Given the description of an element on the screen output the (x, y) to click on. 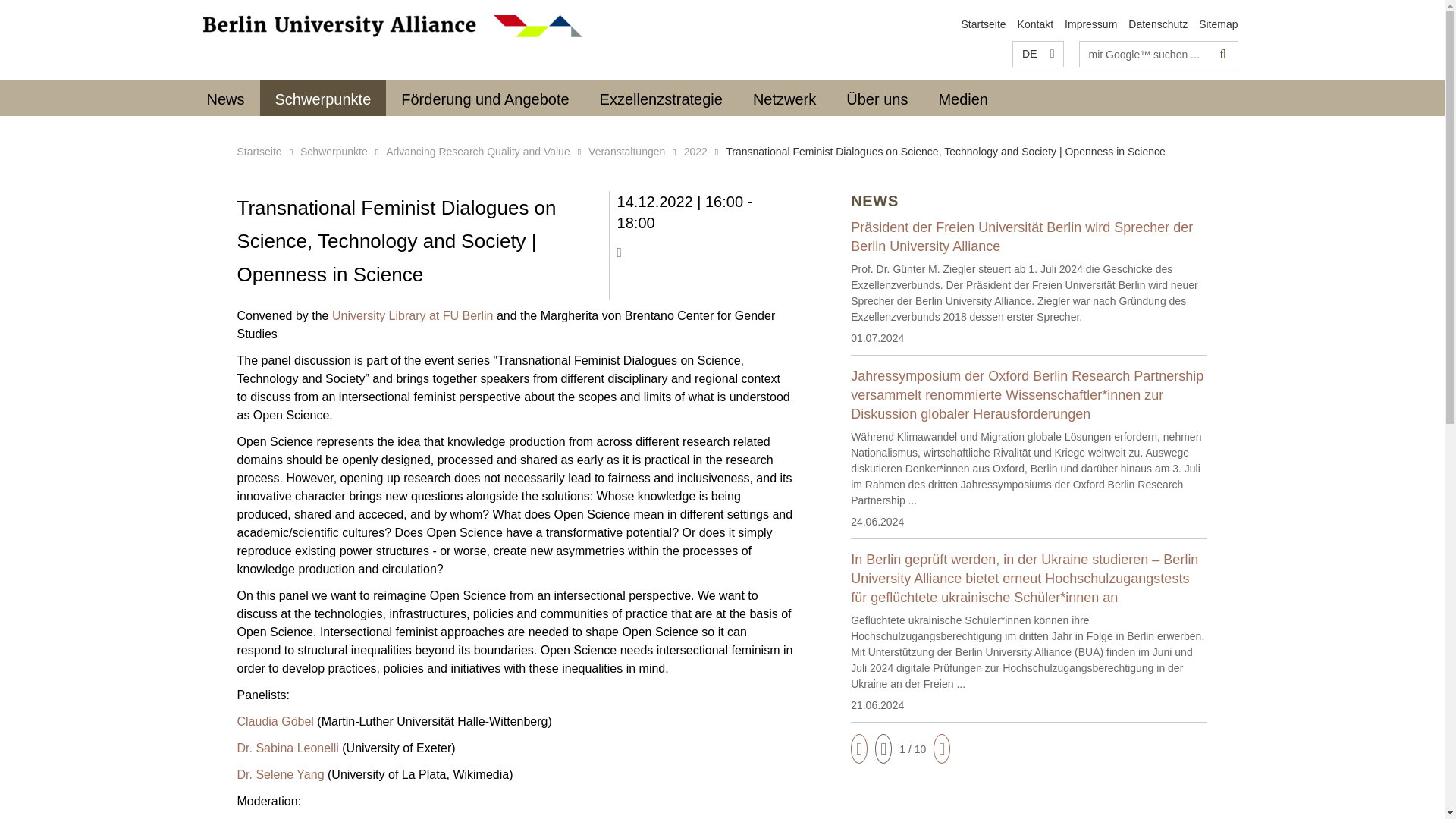
Suchbegriff bitte hier eingeben (1144, 53)
Impressum (1090, 24)
Startseite (983, 24)
Sitemap (1217, 24)
Hinweise zum Datenschutz (1158, 24)
Zur Startseite von: Berlin University Alliance (392, 25)
Seite 1 von insgesamt 10 Seiten (912, 749)
Kontakt (1034, 24)
Datenschutz (1158, 24)
Zur Startseite von: Berlin University Alliance (983, 24)
Schwerpunkte (323, 98)
News (224, 98)
